Given the description of an element on the screen output the (x, y) to click on. 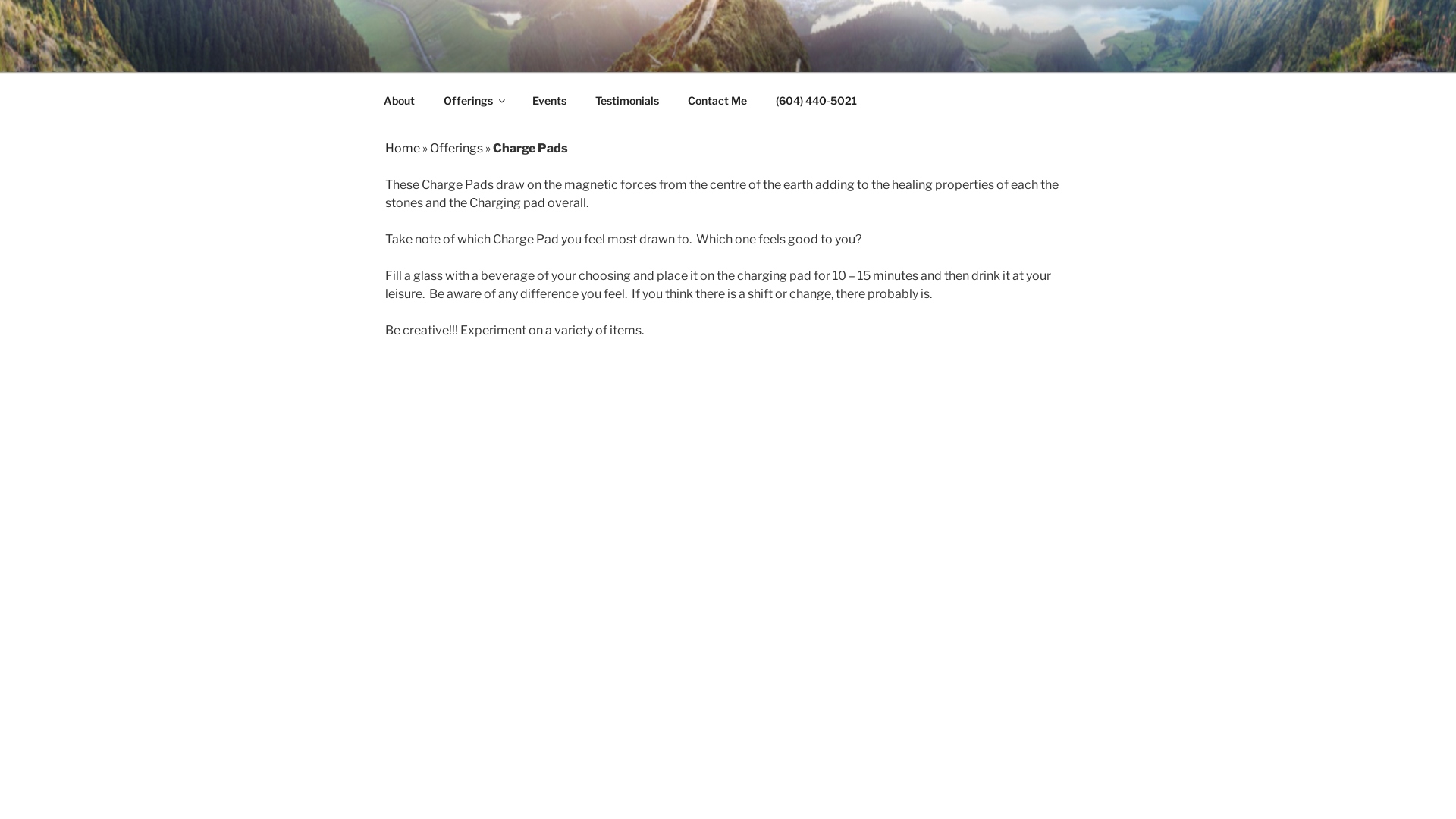
AWAKENING THE HEALER WITHIN Element type: text (650, 52)
Home Element type: text (402, 148)
Offerings Element type: text (472, 100)
(604) 440-5021 Element type: text (815, 100)
Offerings Element type: text (456, 148)
About Element type: text (398, 100)
Contact Me Element type: text (716, 100)
Testimonials Element type: text (626, 100)
Events Element type: text (548, 100)
